Given the description of an element on the screen output the (x, y) to click on. 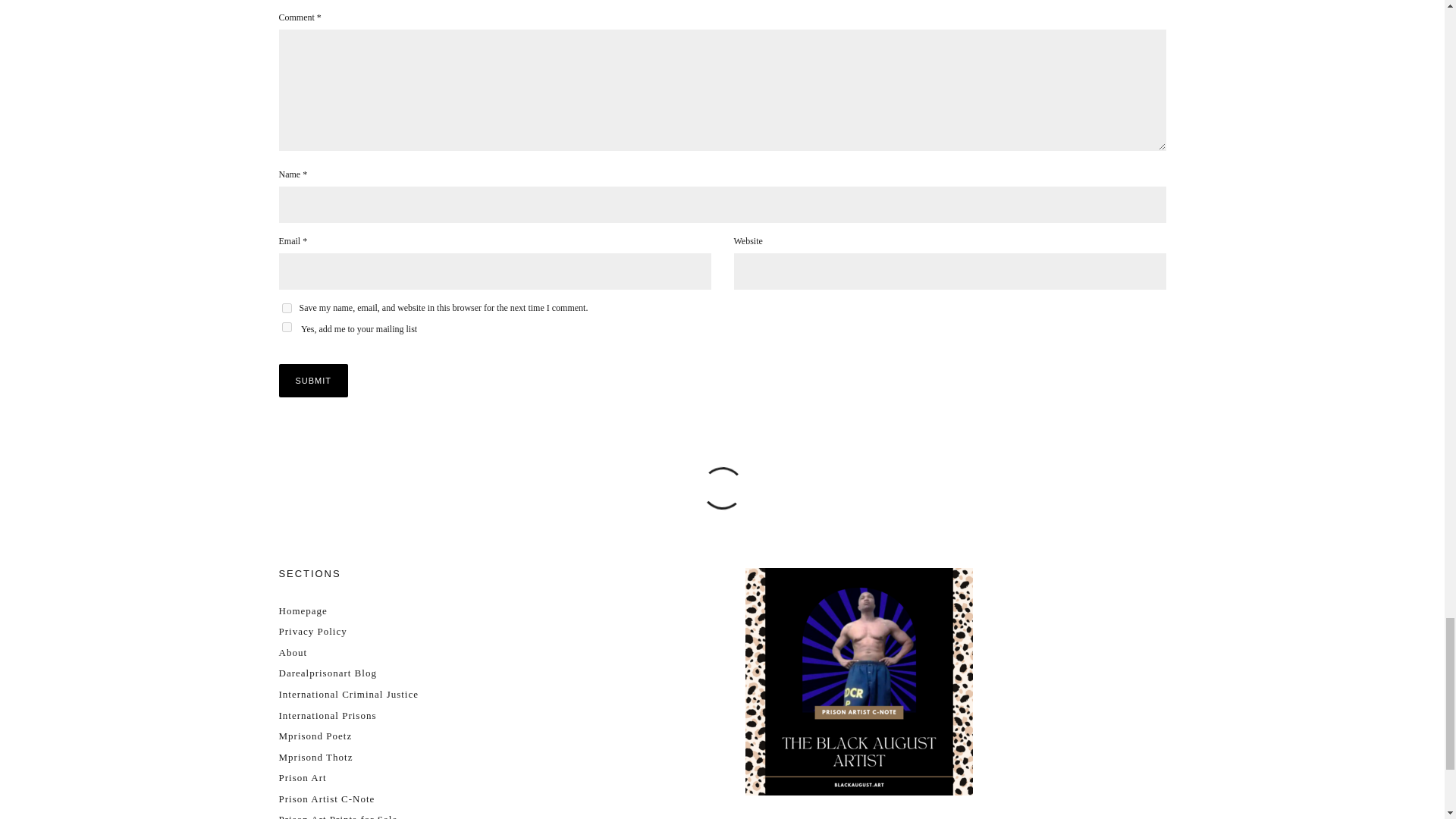
1 (287, 327)
yes (287, 307)
Submit (314, 380)
